Given the description of an element on the screen output the (x, y) to click on. 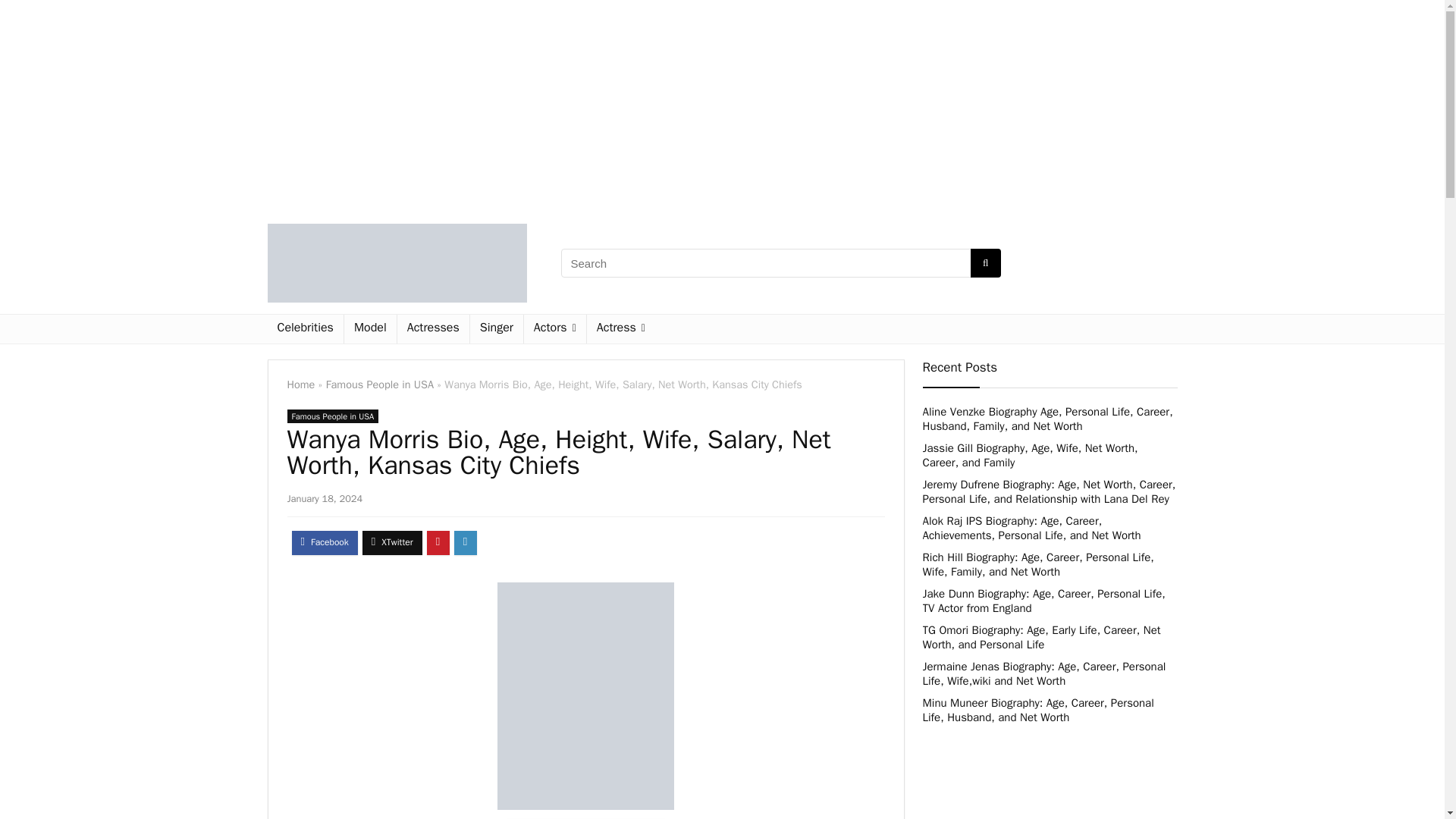
Singer (496, 328)
Model (369, 328)
